Given the description of an element on the screen output the (x, y) to click on. 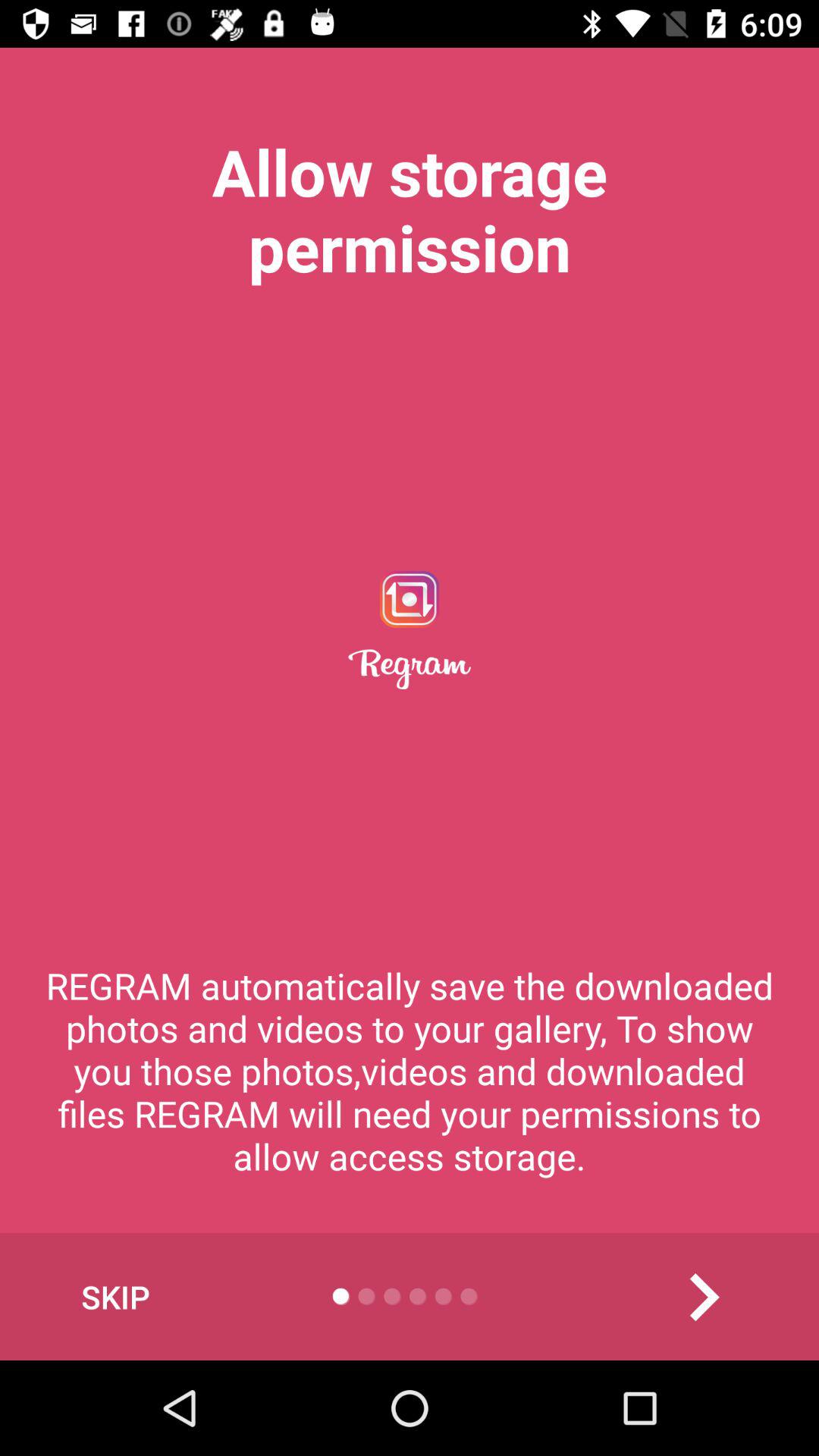
scroll to the skip (114, 1296)
